Given the description of an element on the screen output the (x, y) to click on. 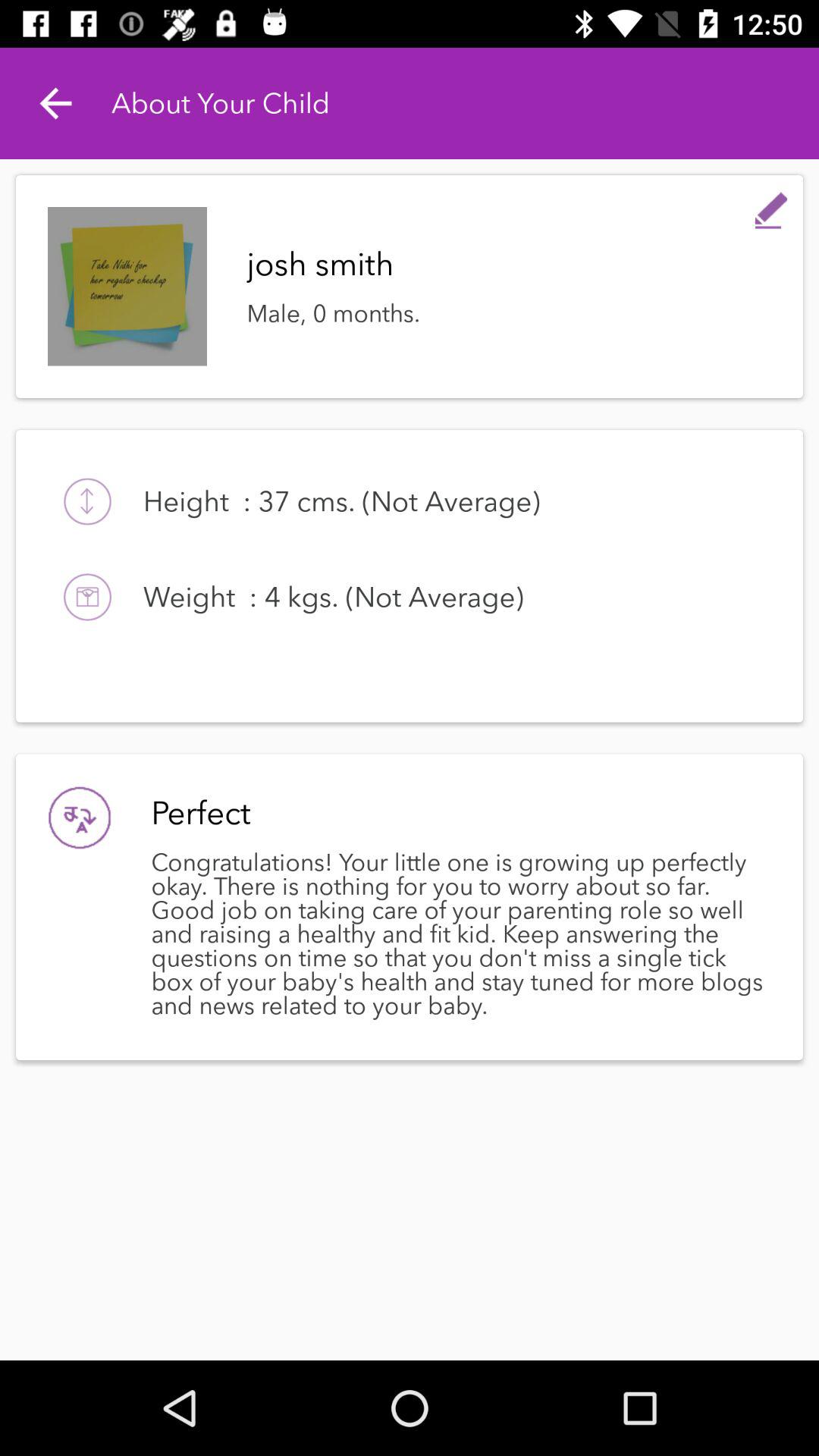
flip until the perfect icon (457, 813)
